Given the description of an element on the screen output the (x, y) to click on. 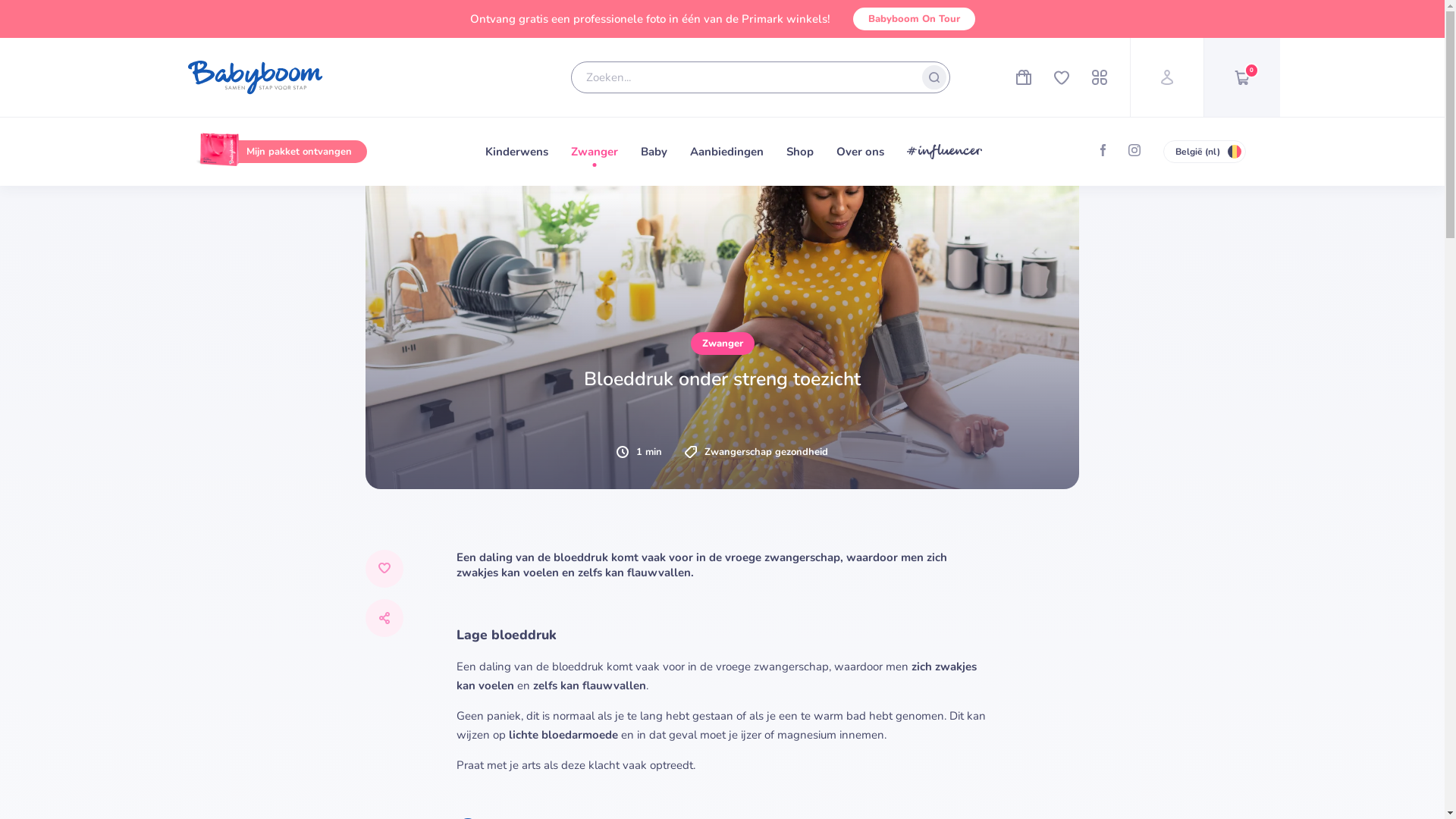
Babyboom On Tour Element type: text (913, 18)
Aanbiedingen Element type: text (726, 151)
Mijn pakket ontvangen Element type: text (288, 151)
Baby Element type: text (653, 151)
Shop Element type: text (798, 151)
Zwanger Element type: text (593, 151)
Over ons Element type: text (859, 151)
0 Element type: text (1240, 76)
Kinderwens Element type: text (516, 151)
